Given the description of an element on the screen output the (x, y) to click on. 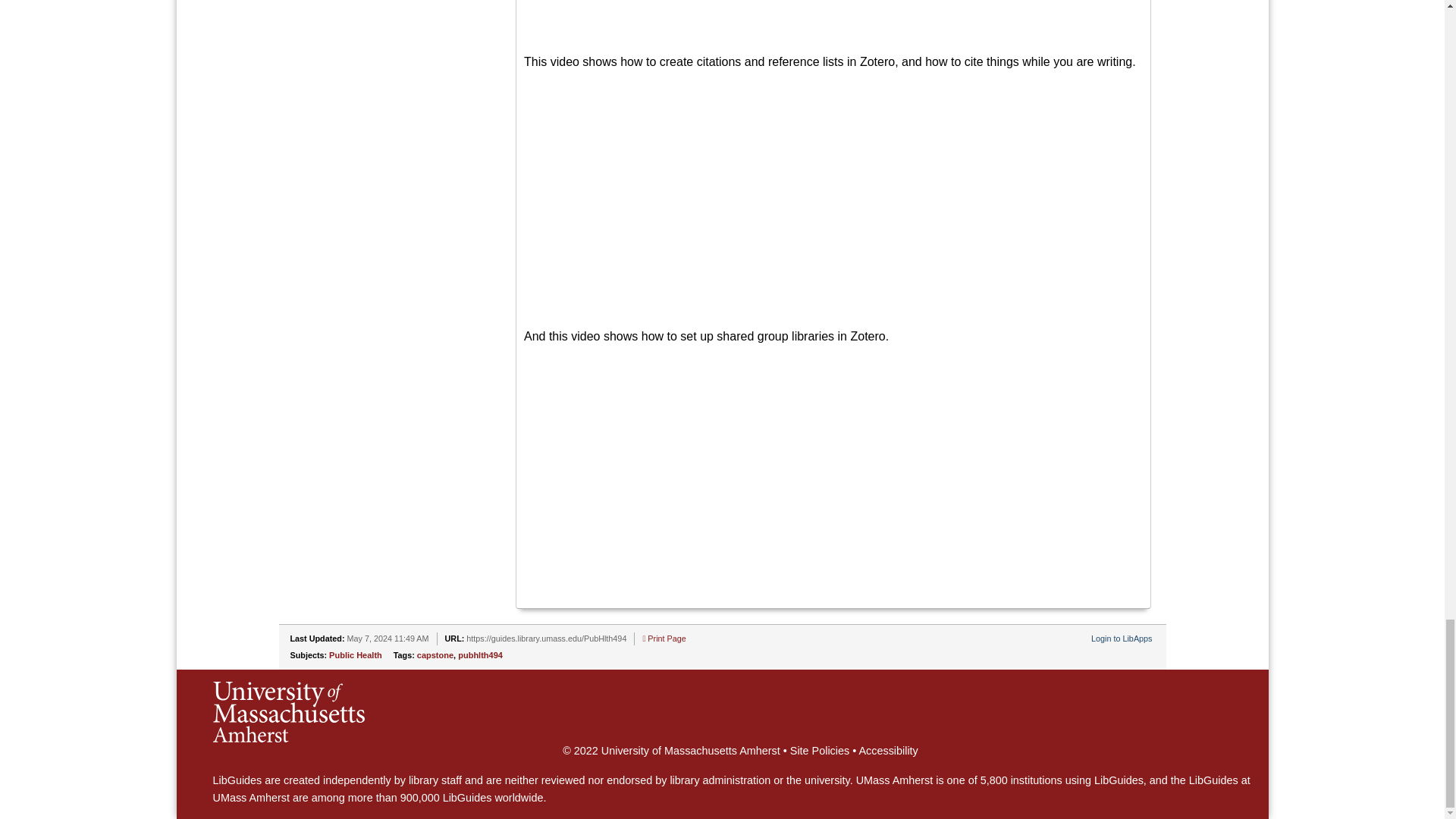
Login to LibApps (1120, 637)
pubhlth494 (480, 655)
University of Massachusetts Amherst (689, 750)
University of Massachusetts Amherst (288, 711)
Public Health (355, 655)
Site Policies (819, 750)
capstone (434, 655)
Print Page (663, 637)
Accessibility (888, 750)
